Given the description of an element on the screen output the (x, y) to click on. 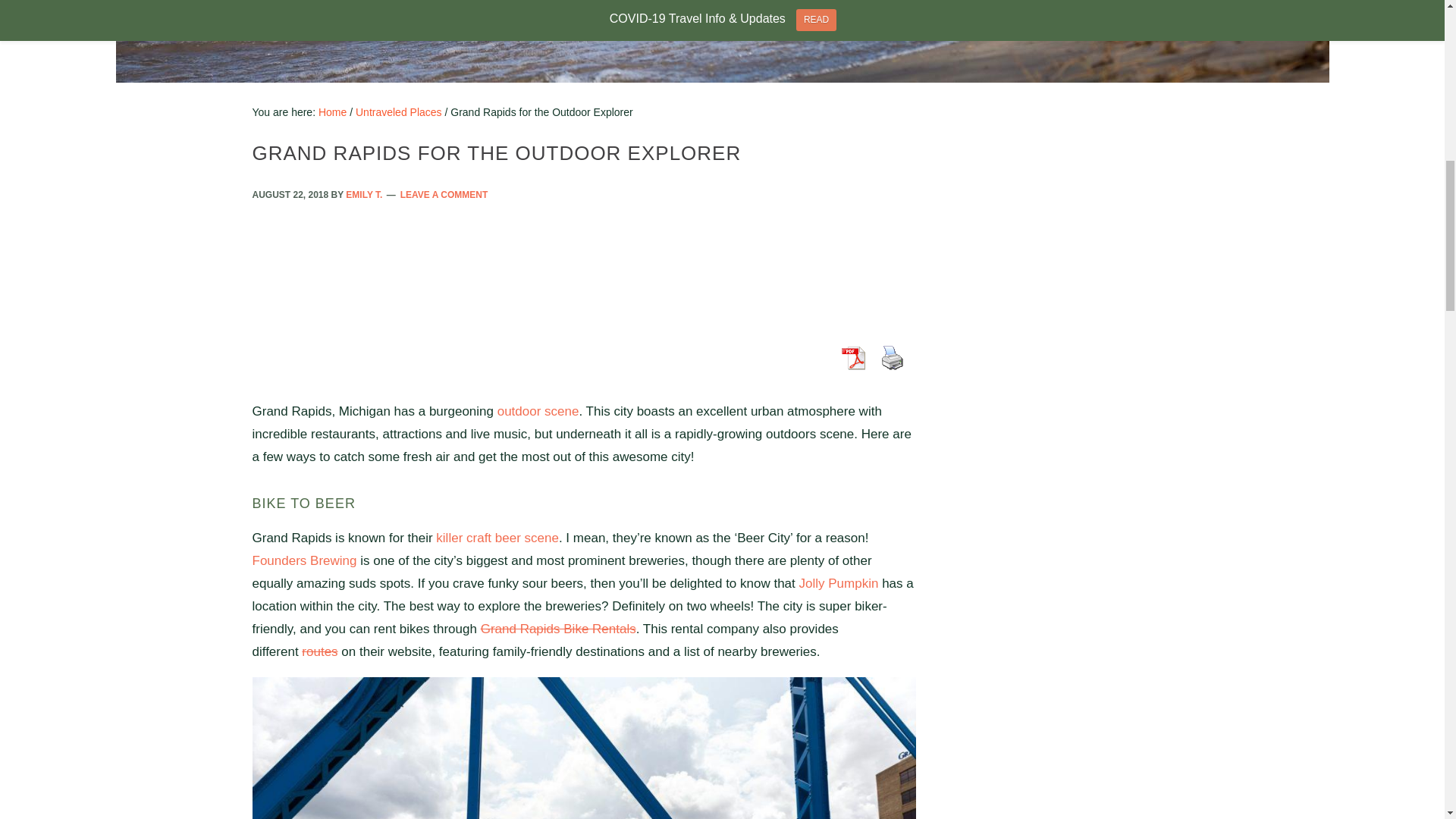
Home (332, 111)
EMILY T. (363, 194)
Founders Brewing (303, 560)
Posts by Emily T. (363, 194)
Print Content (892, 357)
Untraveled Places (398, 111)
LEAVE A COMMENT (443, 194)
Jolly Pumpkin (839, 583)
View PDF (853, 357)
killer craft beer scene (497, 537)
